Given the description of an element on the screen output the (x, y) to click on. 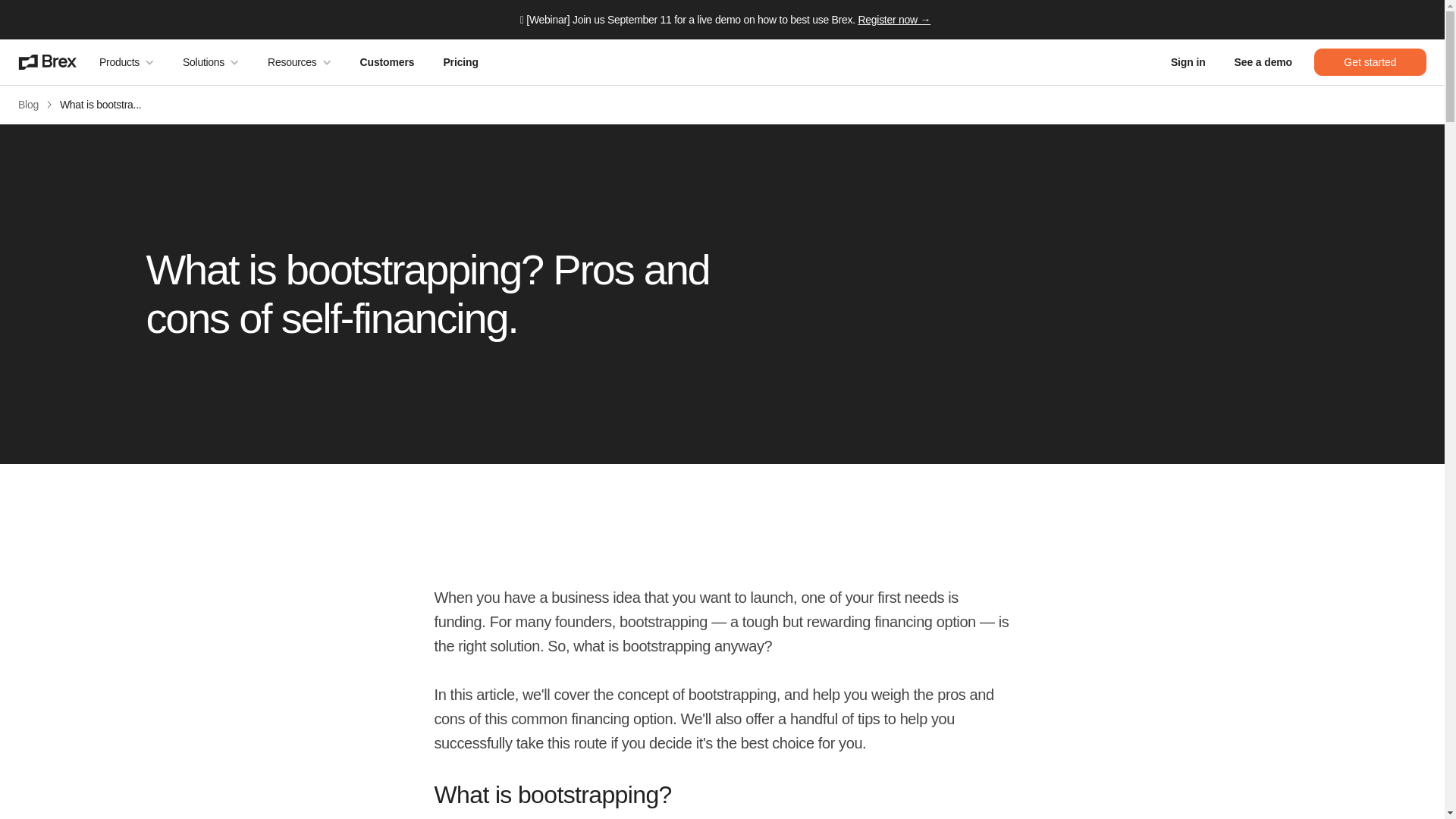
Solutions (211, 61)
Products (126, 61)
Customers (387, 61)
Get started (1370, 62)
Sign in (1187, 61)
See a demo (1262, 61)
Pricing (459, 61)
Resources (298, 61)
Blog (28, 104)
